Given the description of an element on the screen output the (x, y) to click on. 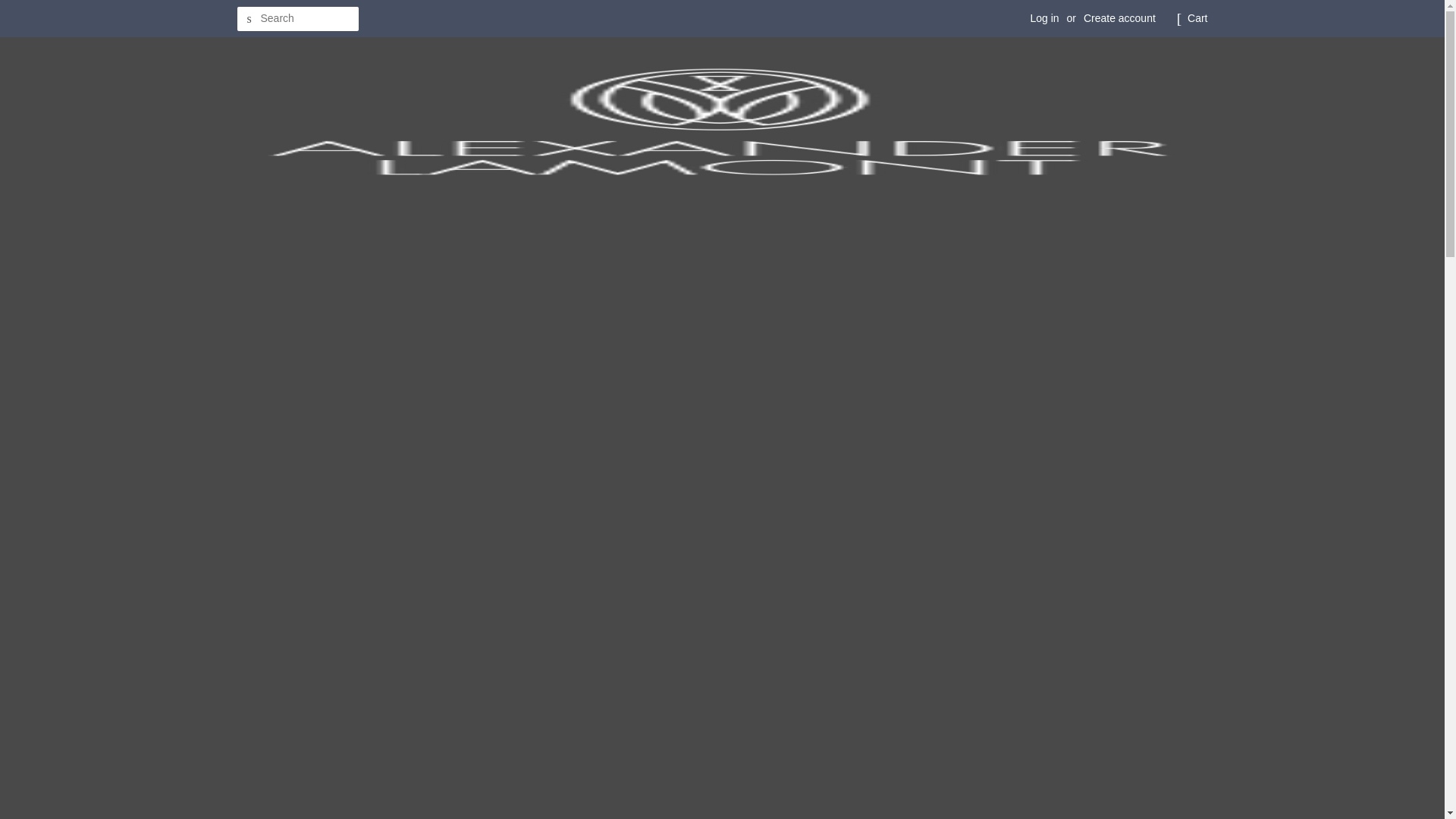
Cart (1197, 18)
Create account (1119, 18)
Search (247, 18)
Log in (1043, 18)
